Given the description of an element on the screen output the (x, y) to click on. 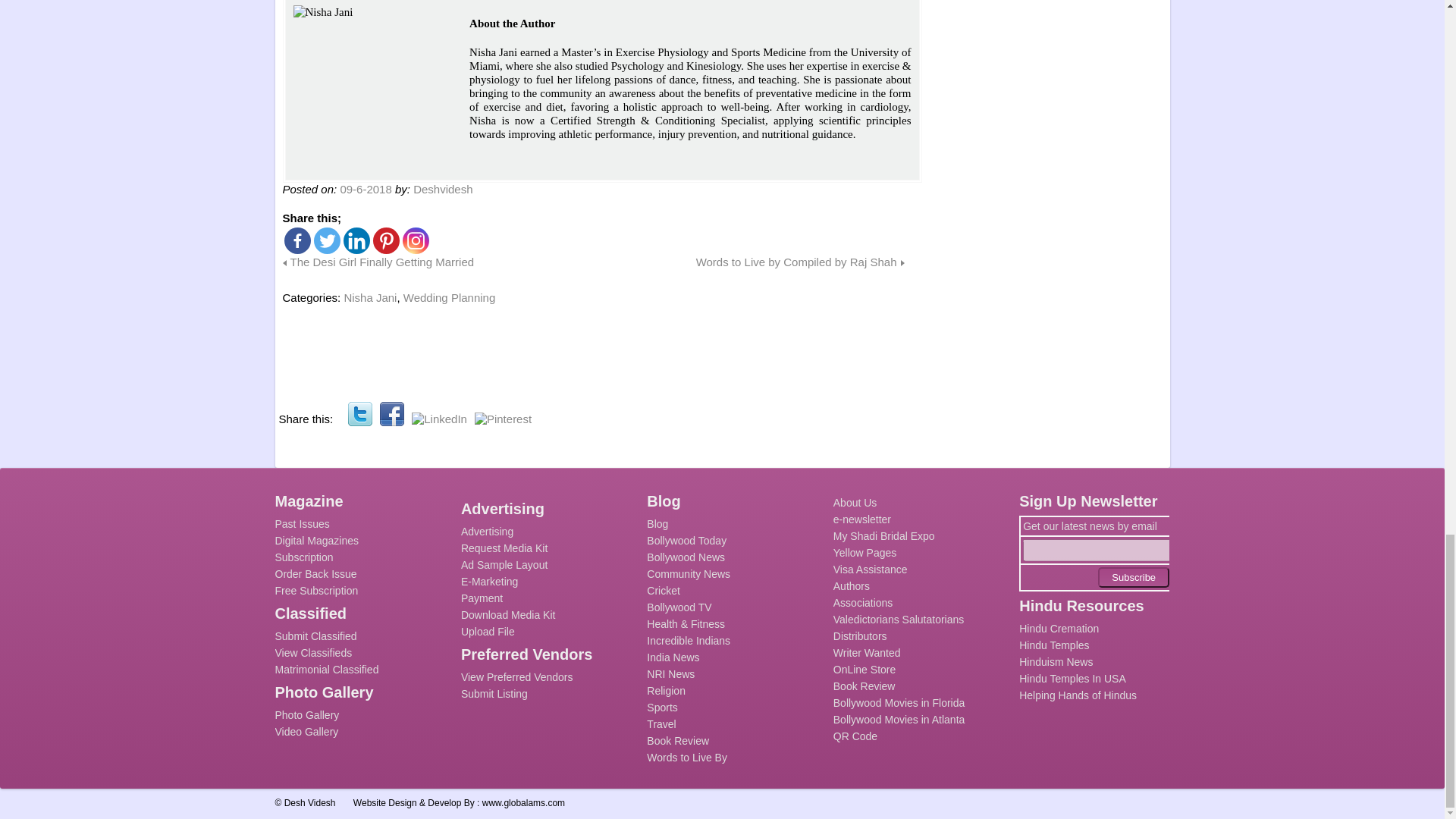
Deshvidesh (442, 188)
Nisha Jani (369, 297)
Linkedin (355, 240)
The Desi Girl Finally Getting Married (378, 261)
Pinterest (385, 240)
Words to Live by Compiled by Raj Shah (799, 261)
Thursday, September 6th, 2018, 11:05 am (365, 188)
Facebook (296, 240)
Twitter (327, 240)
LinkedIn (439, 418)
Instagram (414, 240)
Subscribe (1133, 577)
Facebook (392, 413)
Nisha Jani  (368, 80)
Twitter (359, 413)
